Given the description of an element on the screen output the (x, y) to click on. 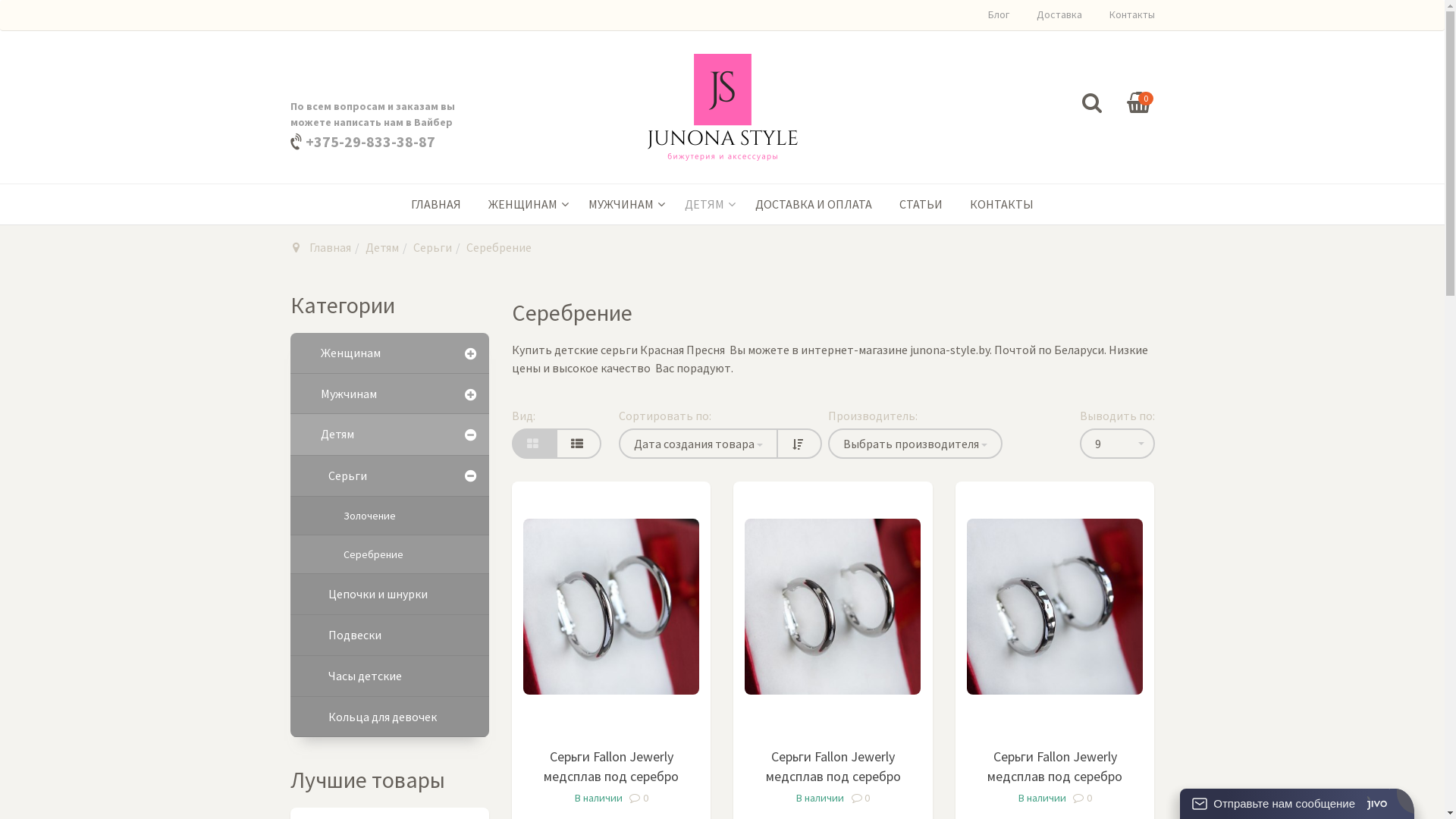
Junona Style Element type: hover (722, 106)
0 Element type: text (1082, 797)
+375-29-833-38-87 Element type: text (367, 140)
9
  Element type: text (1116, 443)
0 Element type: text (638, 797)
0 Element type: text (1138, 102)
0 Element type: text (859, 797)
